Given the description of an element on the screen output the (x, y) to click on. 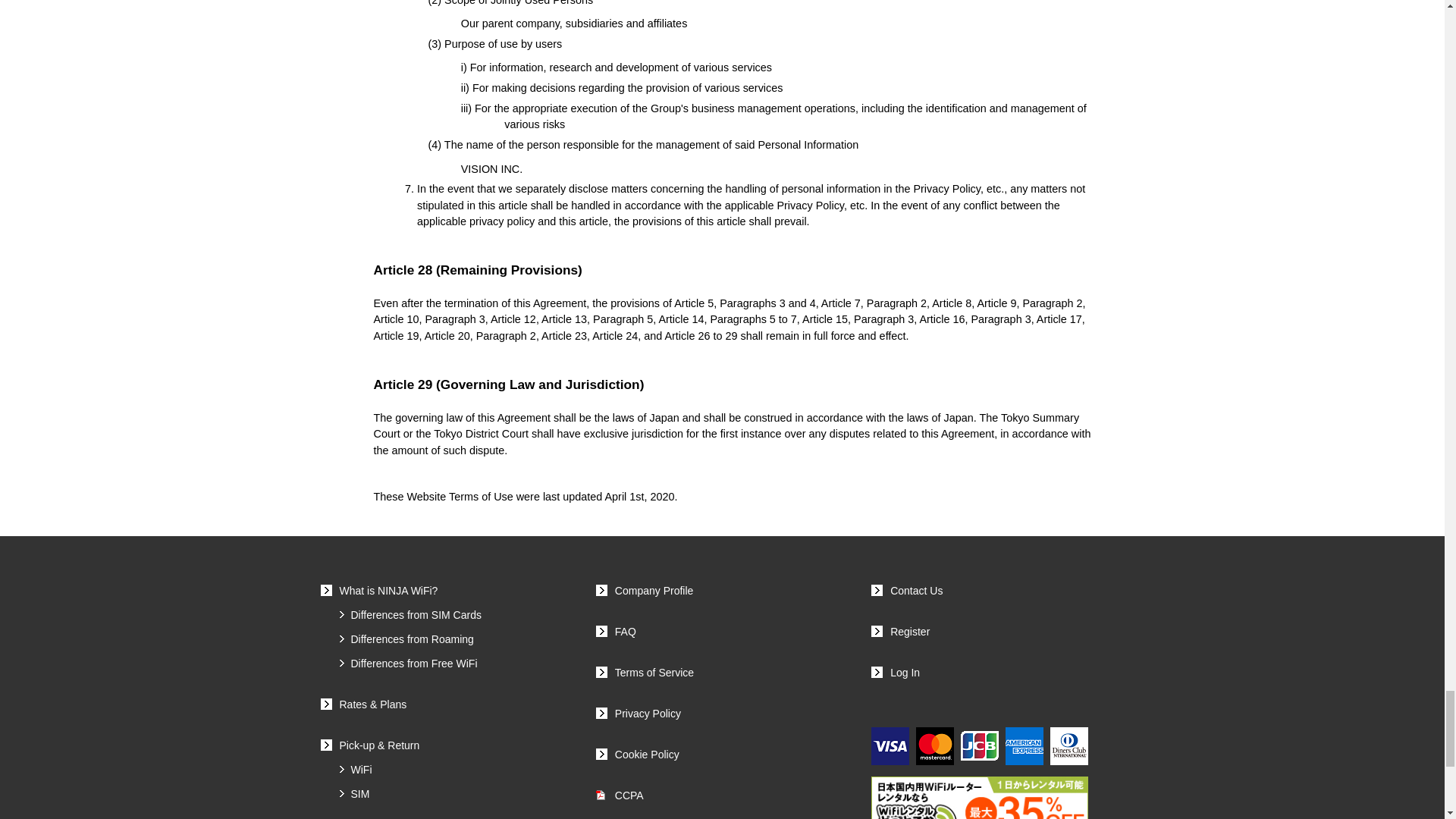
Register (900, 631)
CCPA (619, 795)
Differences from Roaming (406, 639)
What is NINJA WiFi? (379, 590)
Terms of Service (644, 672)
FAQ (615, 631)
SIM (354, 793)
Differences from SIM Cards (410, 614)
Privacy Policy (638, 713)
Company Profile (644, 590)
Contact Us (906, 590)
Differences from Free WiFi (408, 663)
WiFi (355, 769)
Cookie Policy (637, 754)
Log In (895, 672)
